Given the description of an element on the screen output the (x, y) to click on. 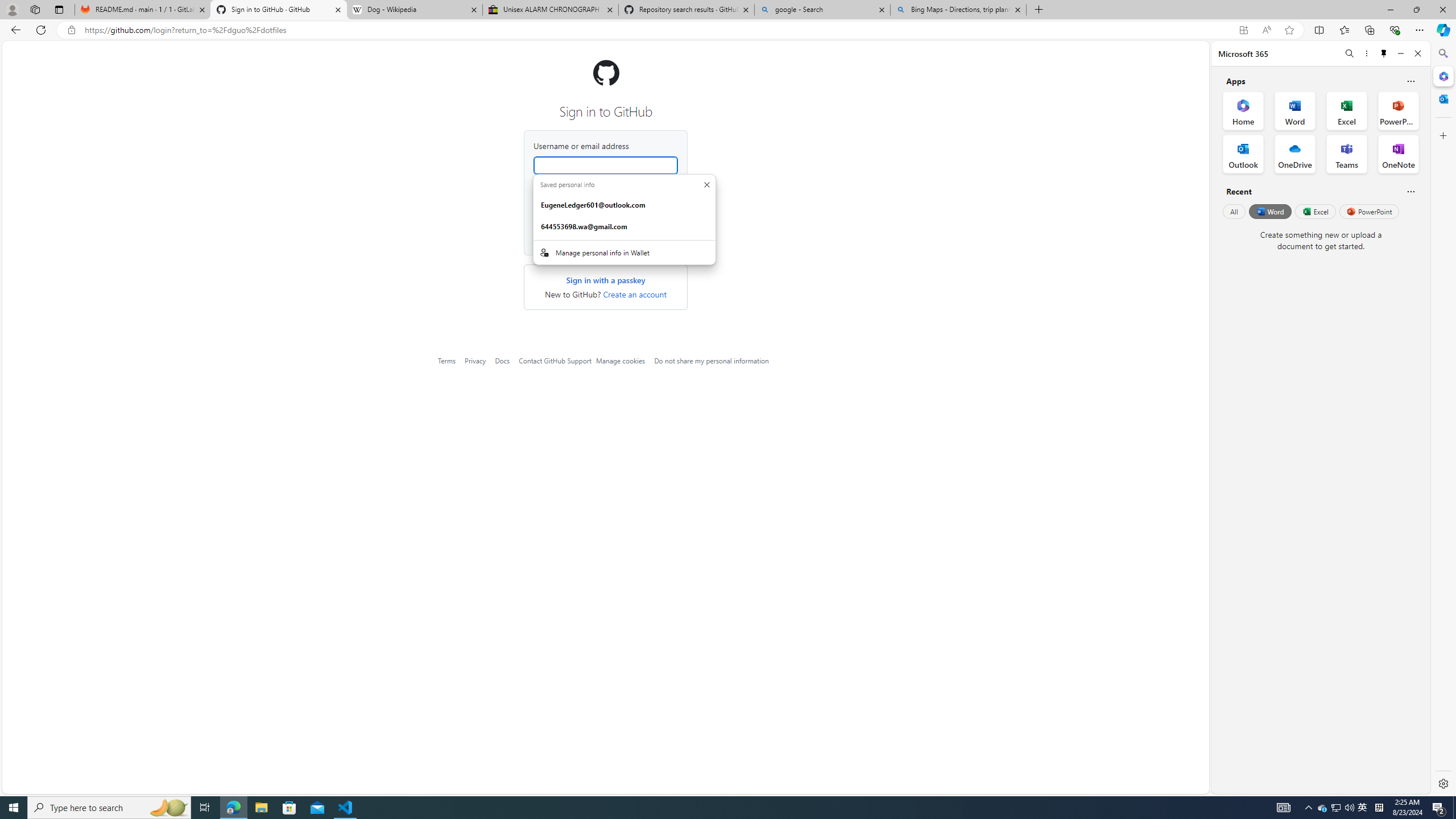
Terms (446, 360)
Manage personal info in Wallet (624, 252)
Do not share my personal information (710, 360)
Address and search bar (658, 29)
Customize (1442, 135)
Teams Office App (1346, 154)
Outlook (1442, 98)
Workspaces (34, 9)
Don't show saved information (706, 184)
